Given the description of an element on the screen output the (x, y) to click on. 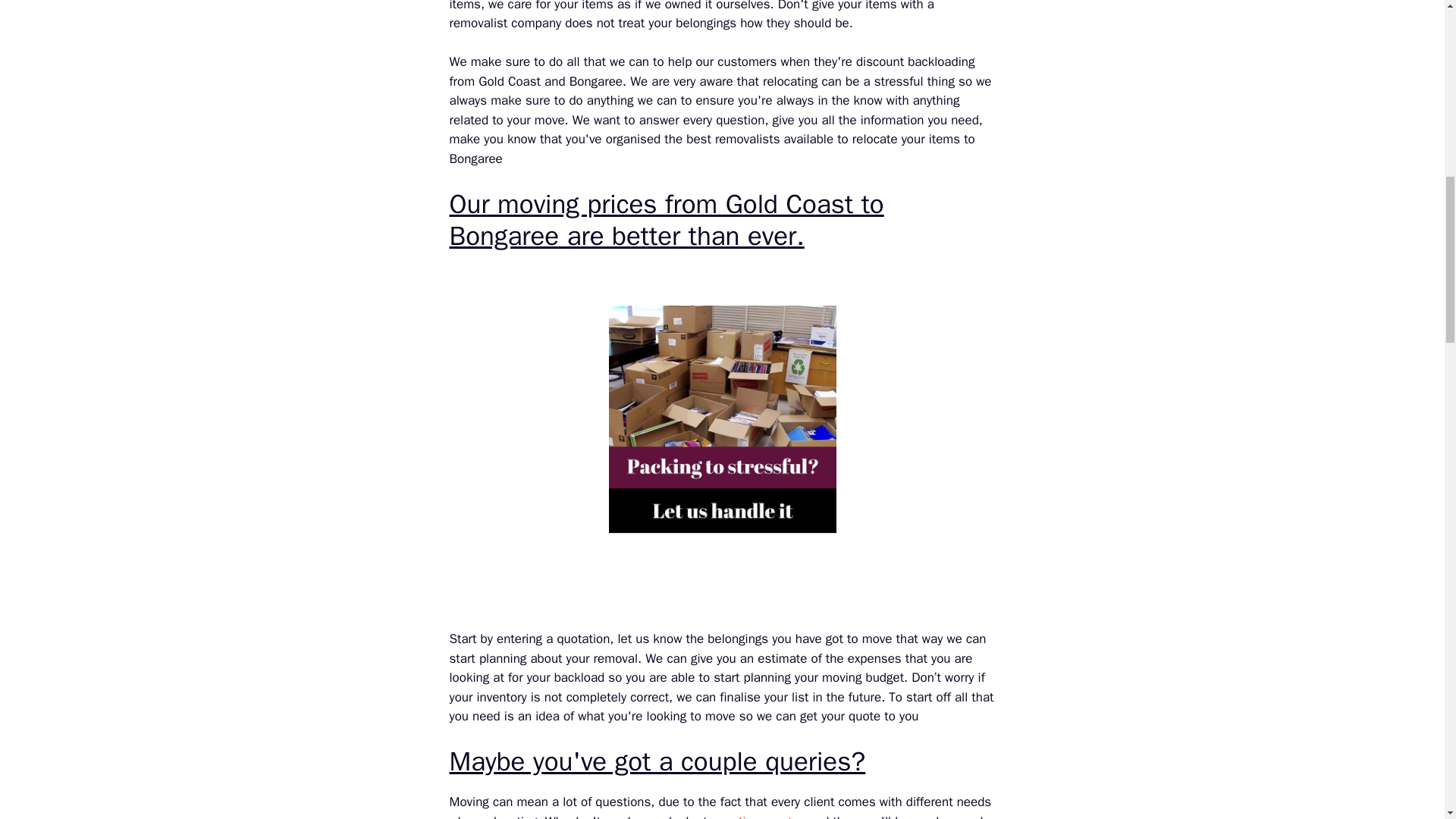
questions pages (758, 816)
Scroll back to top (1406, 720)
